Given the description of an element on the screen output the (x, y) to click on. 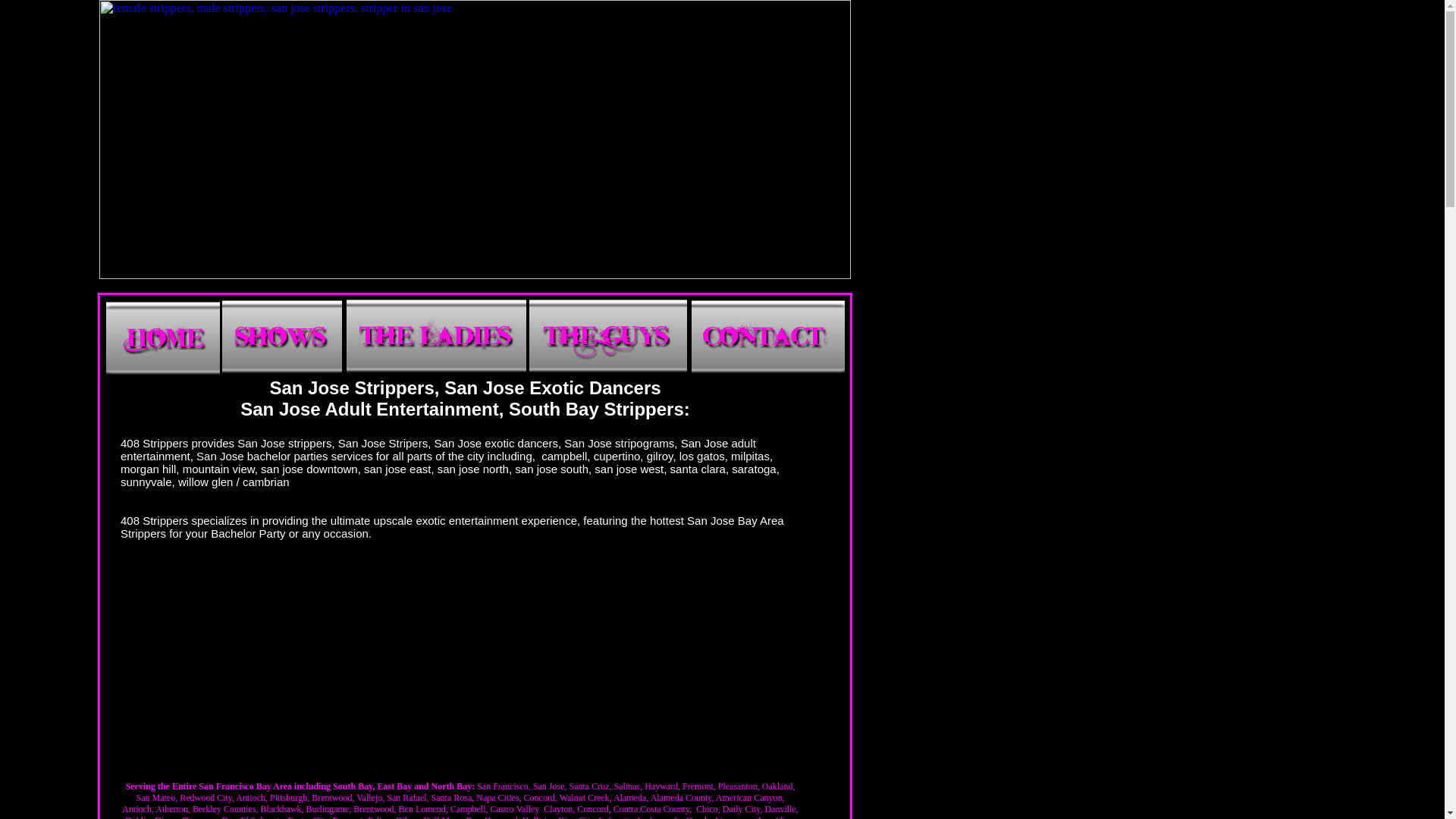
san jose strippers, female stripper, strippers in san jose Element type: hover (474, 274)
